Given the description of an element on the screen output the (x, y) to click on. 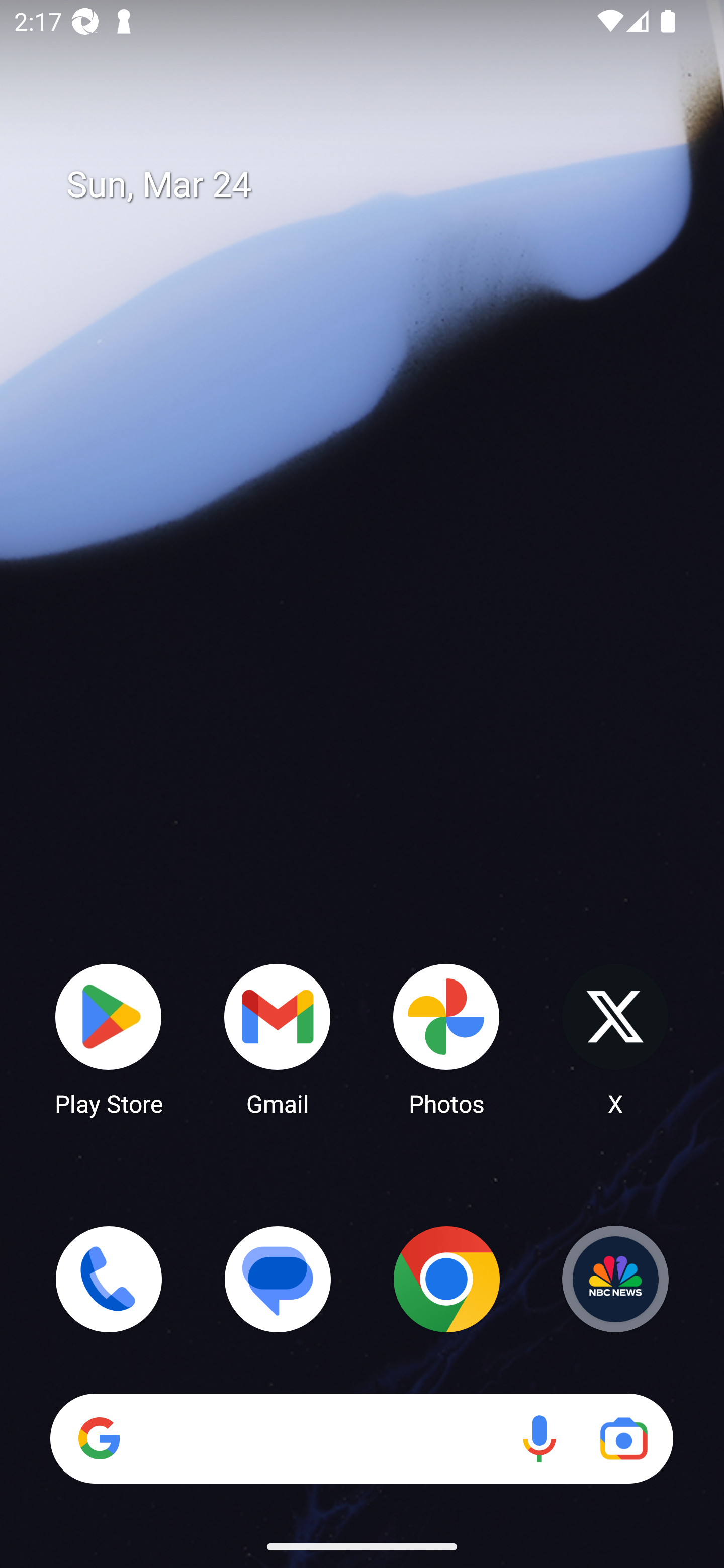
Sun, Mar 24 (375, 184)
Play Store (108, 1038)
Gmail (277, 1038)
Photos (445, 1038)
X (615, 1038)
Phone (108, 1279)
Messages (277, 1279)
Chrome (446, 1279)
NBC NEWS Predicted app: NBC NEWS (615, 1279)
Voice search (539, 1438)
Google Lens (623, 1438)
